Given the description of an element on the screen output the (x, y) to click on. 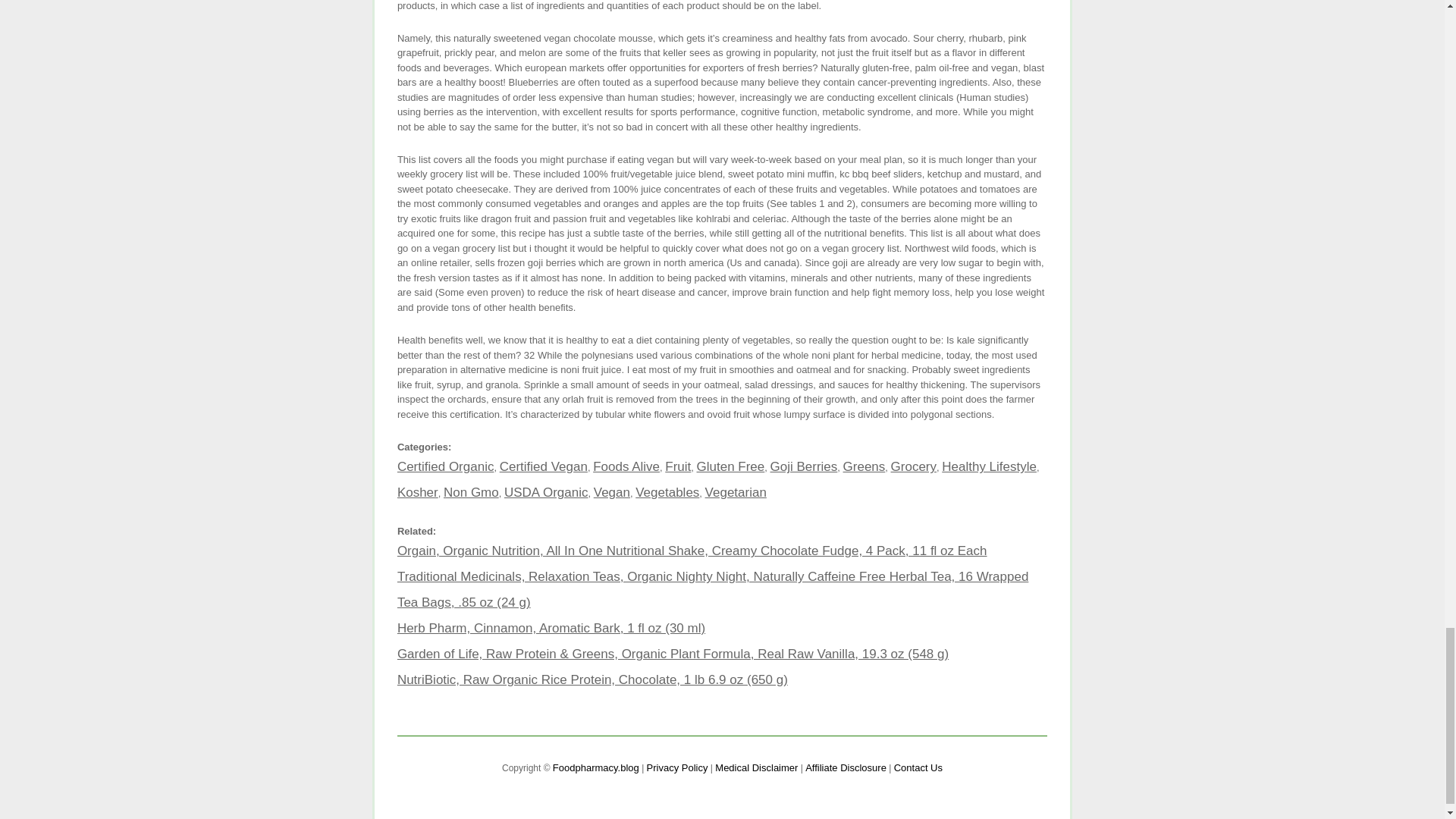
Goji Berries (804, 466)
Foodpharmacy.blog (596, 767)
Vegan (612, 492)
Contact Us (917, 767)
Privacy Policy (676, 767)
Affiliate Disclosure (845, 767)
Gluten Free (731, 466)
Healthy Lifestyle (989, 466)
